Given the description of an element on the screen output the (x, y) to click on. 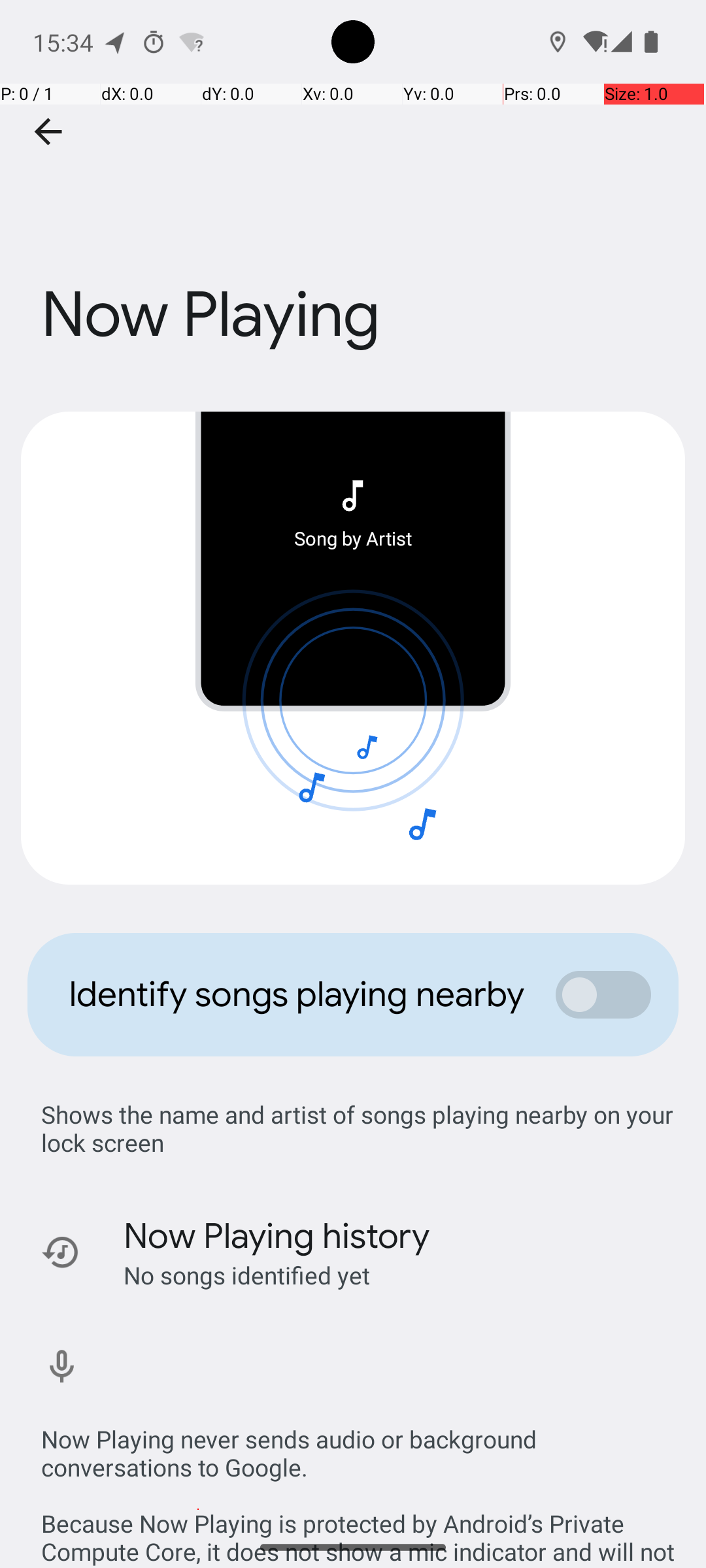
Shows the name and artist of songs playing nearby on your lock screen Element type: android.widget.TextView (359, 1128)
Now Playing history Element type: android.widget.TextView (276, 1235)
No songs identified yet Element type: android.widget.TextView (246, 1274)
Now Playing never sends audio or background conversations to Google.

Because Now Playing is protected by Android’s Private Compute Core, it does not show a mic indicator and will not appear on your Privacy dashboard. Element type: android.widget.TextView (359, 1481)
